Given the description of an element on the screen output the (x, y) to click on. 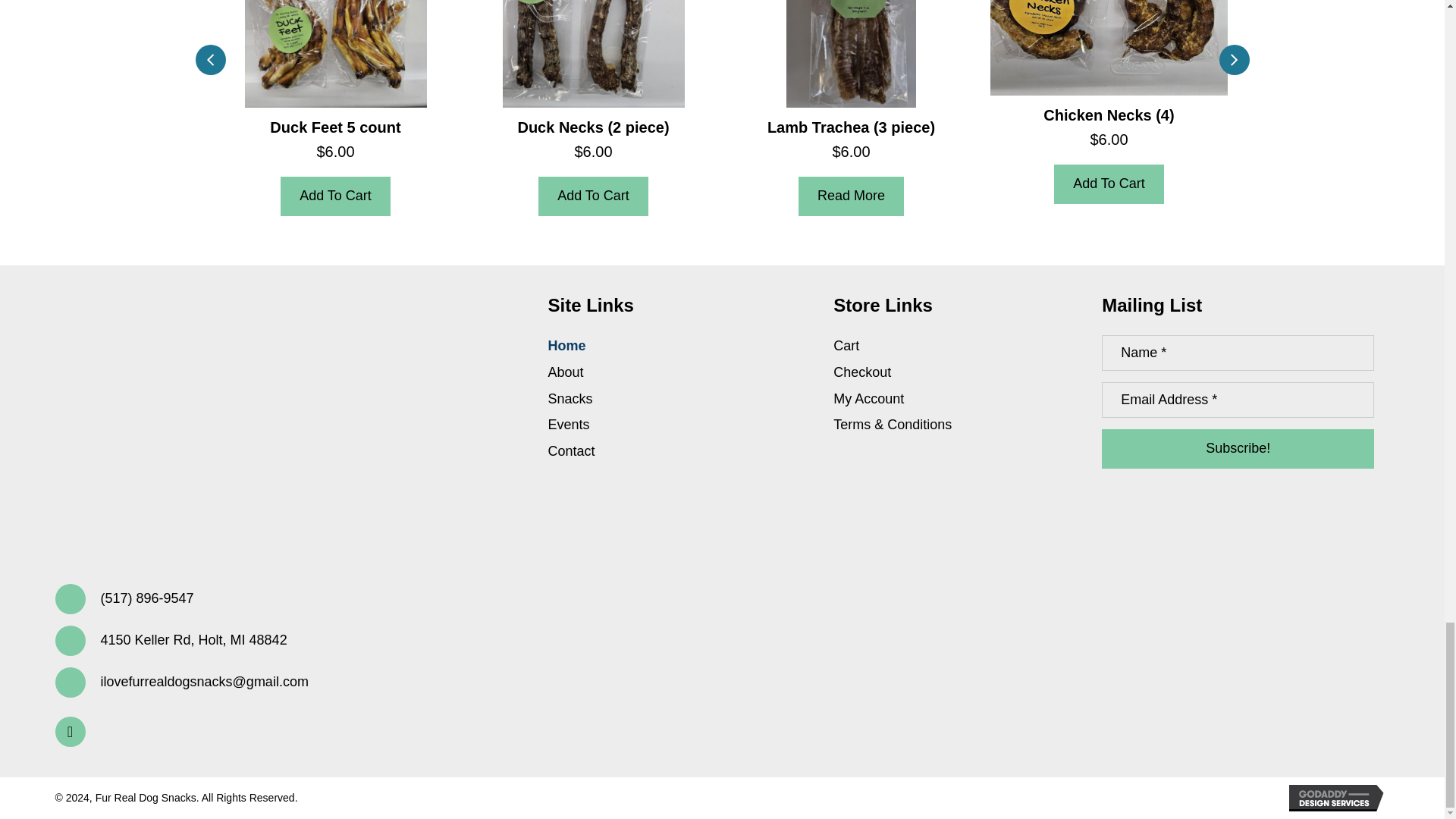
Duck Feet 5 count (335, 117)
Add To Cart (592, 196)
Read More (850, 196)
Add To Cart (1108, 183)
duck feet (335, 53)
Add To Cart (335, 196)
